Given the description of an element on the screen output the (x, y) to click on. 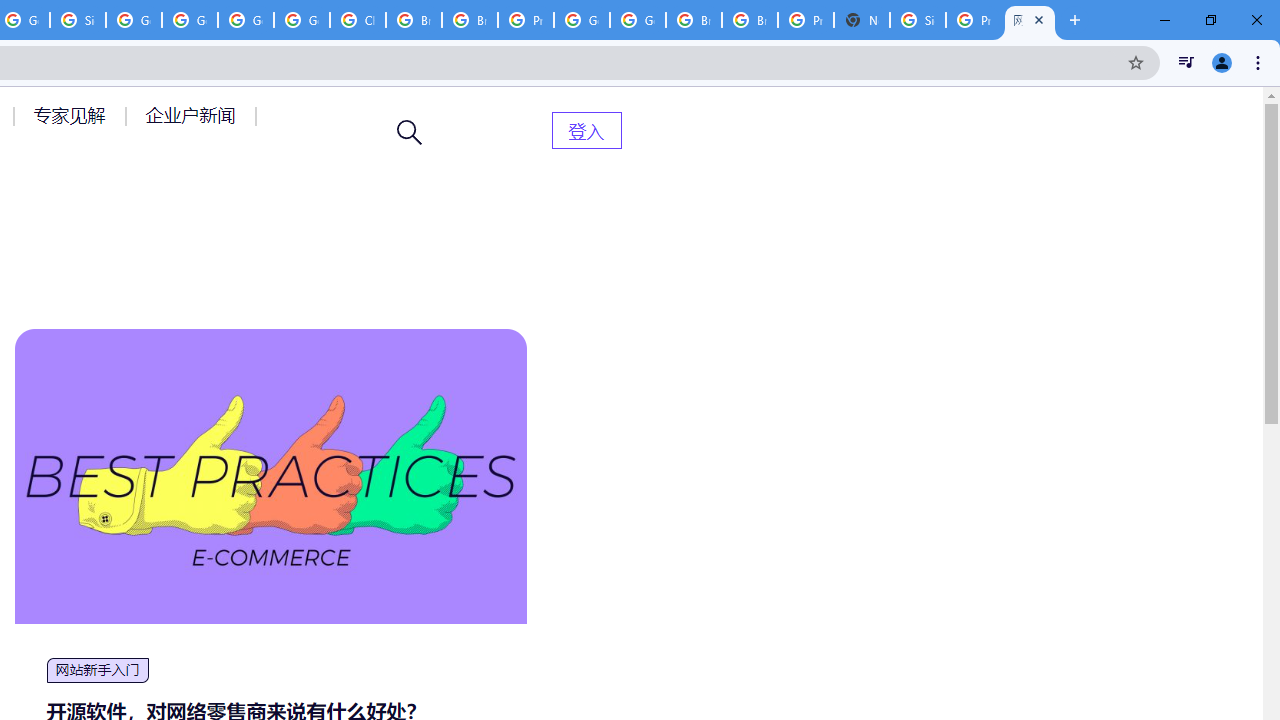
Open search form (410, 132)
Google Cloud Platform (245, 20)
AutomationID: menu-item-77764 (72, 115)
Google Cloud Platform (582, 20)
AutomationID: menu-item-82399 (586, 129)
